Given the description of an element on the screen output the (x, y) to click on. 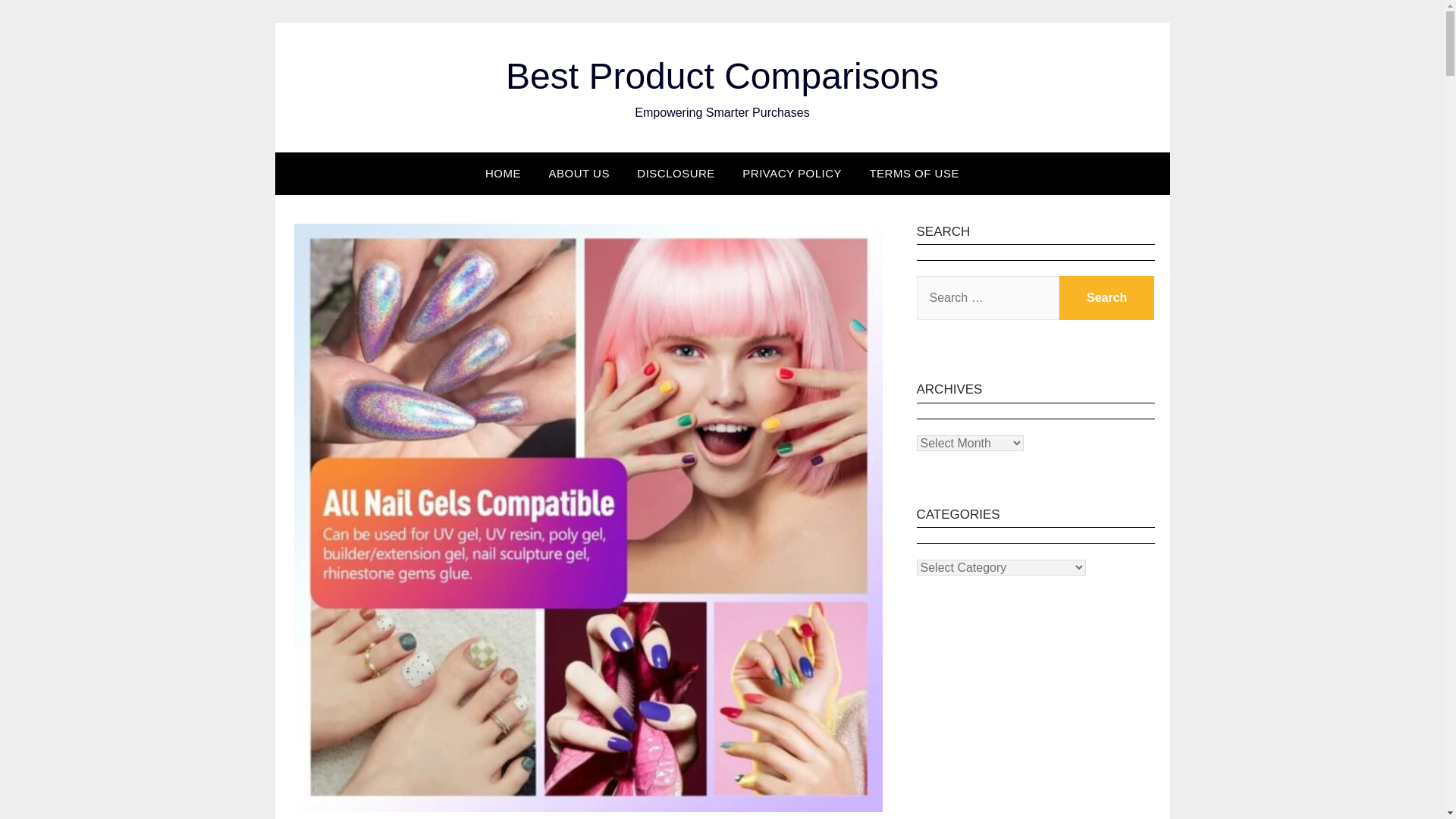
Best Product Comparisons (722, 76)
PRIVACY POLICY (791, 173)
ABOUT US (578, 173)
DISCLOSURE (675, 173)
TERMS OF USE (914, 173)
HOME (502, 173)
Search (1106, 298)
Search (1106, 298)
